Given the description of an element on the screen output the (x, y) to click on. 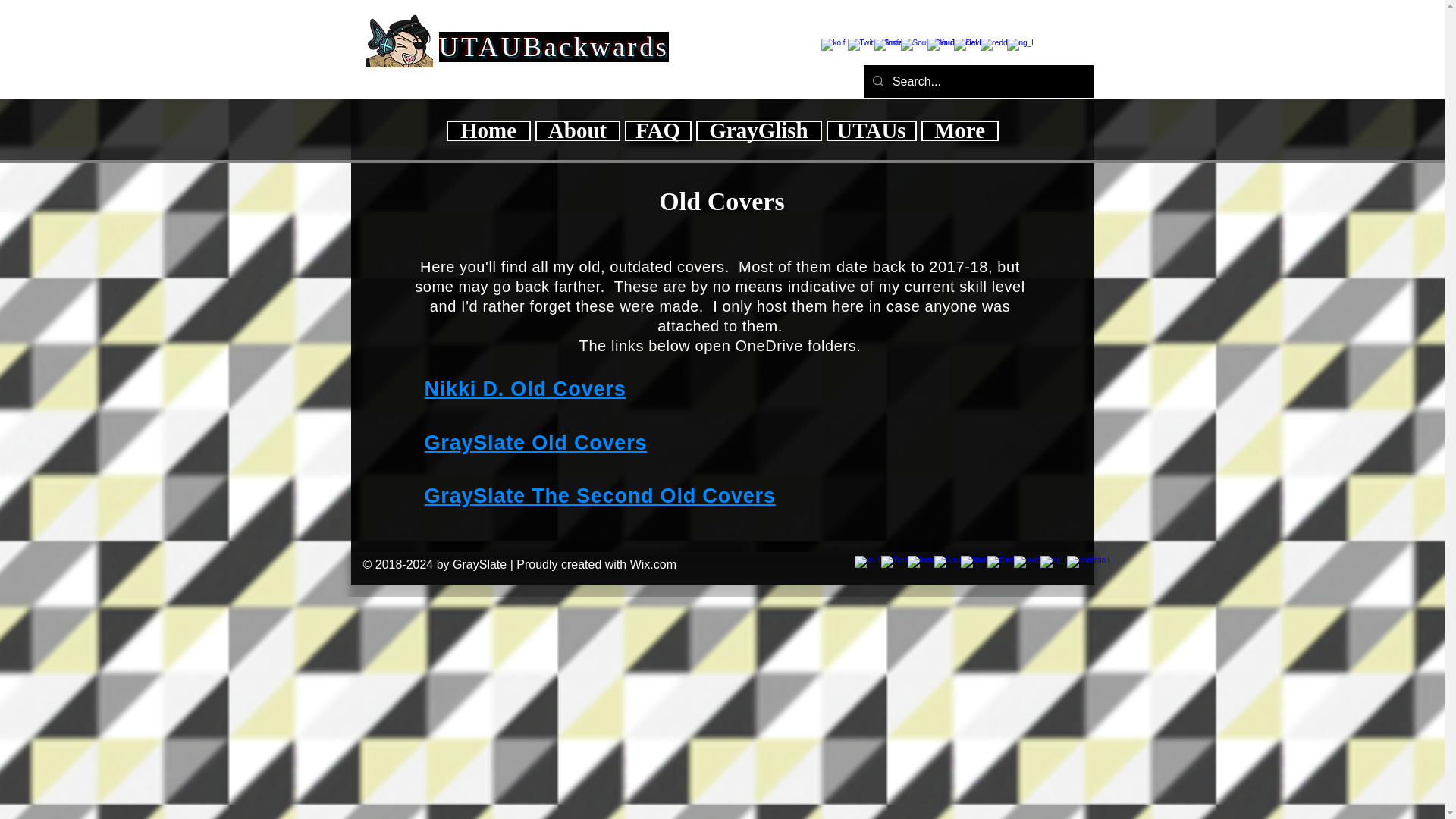
GrayGlish (758, 130)
Nikki D. Old Covers (525, 388)
UTAUBackwards (553, 46)
GraySlate The Second Old Covers (600, 495)
Wix.com (653, 563)
FAQ (657, 130)
UTAUs (872, 130)
GraySlate Old Covers (536, 442)
Home (487, 130)
About (577, 130)
